Given the description of an element on the screen output the (x, y) to click on. 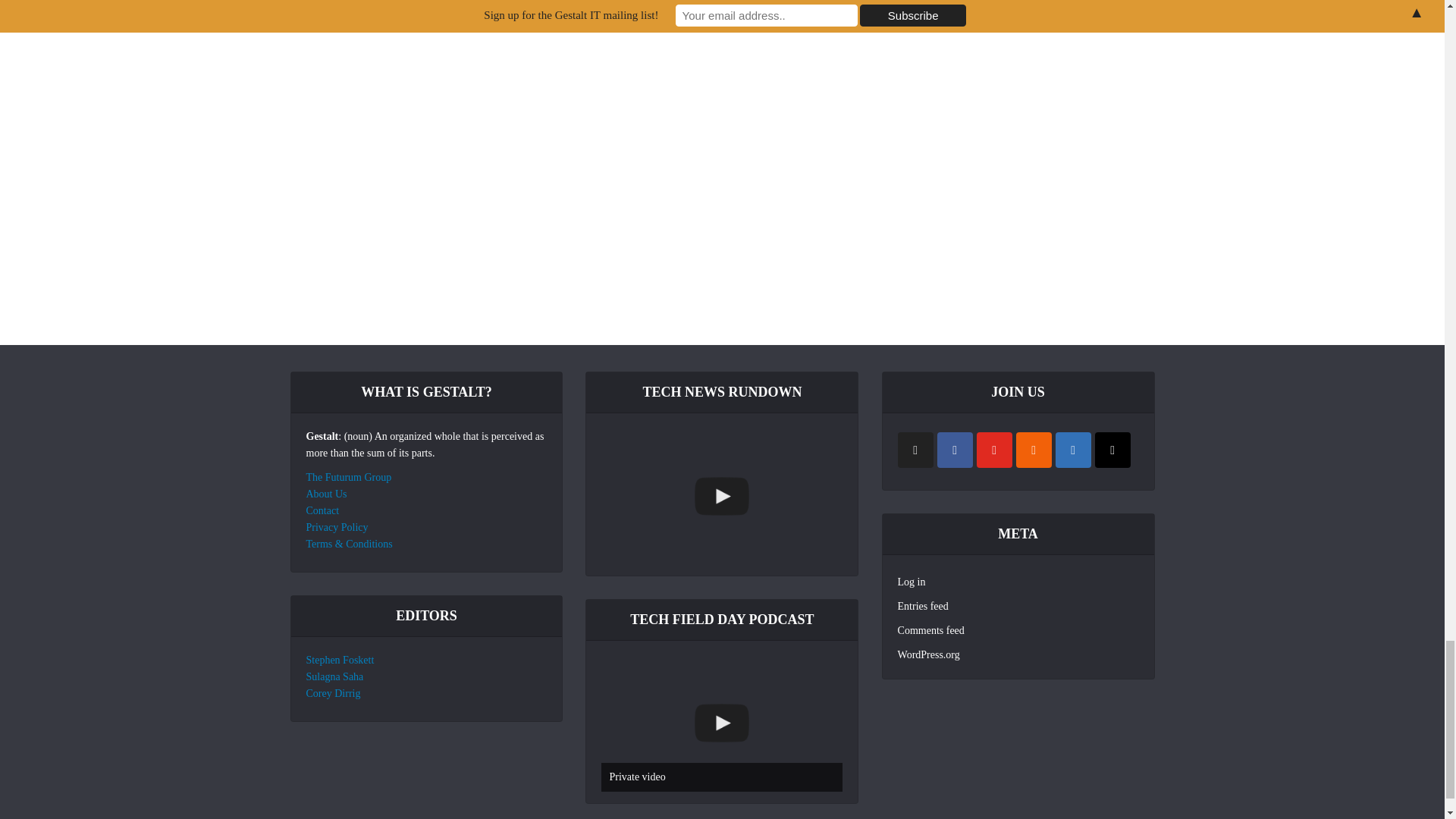
Linkedin (1072, 449)
Facebook (954, 449)
YouTube (993, 449)
Private video (722, 723)
Mail (1112, 449)
RSS (1033, 449)
